Given the description of an element on the screen output the (x, y) to click on. 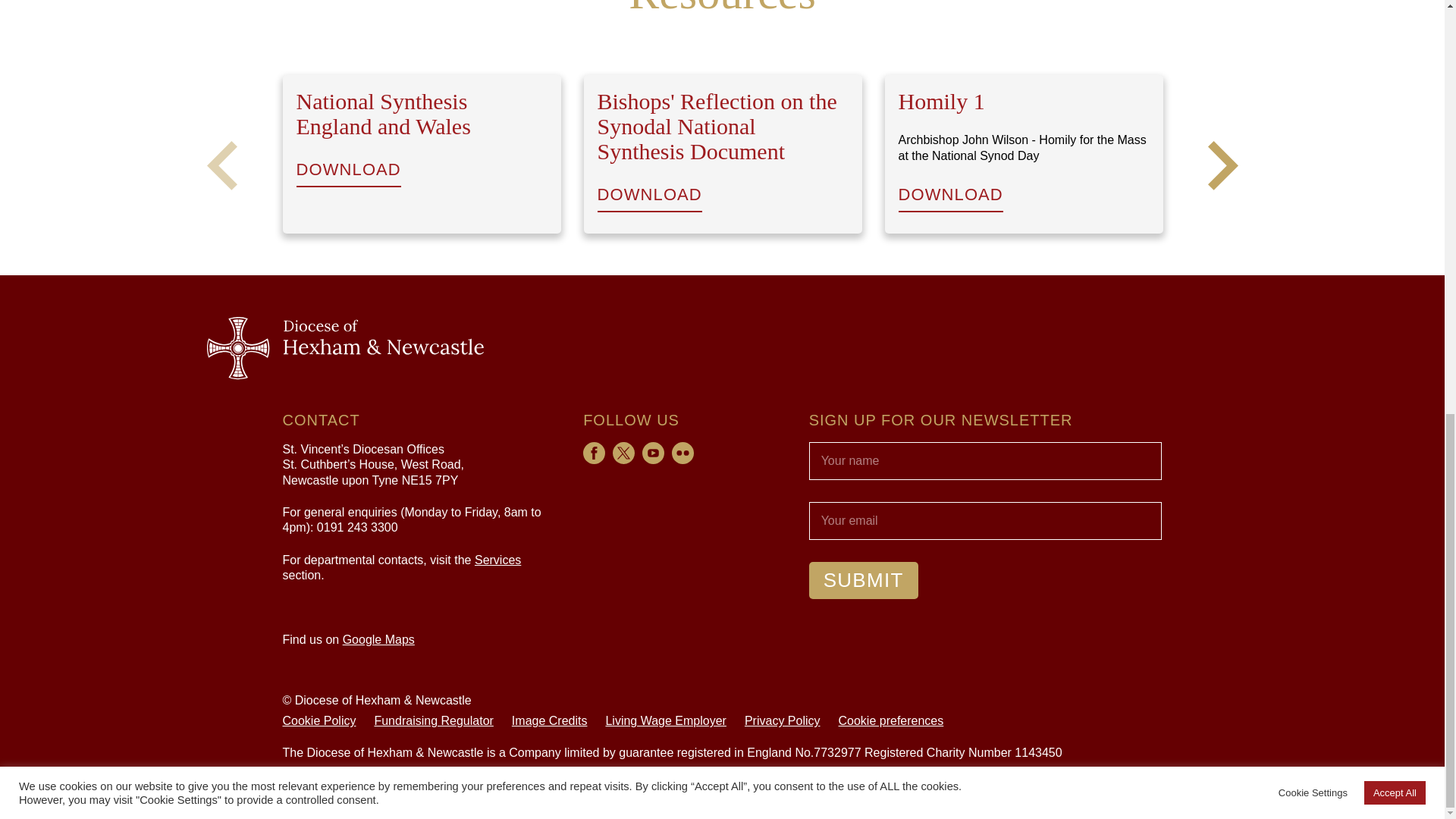
Submit (863, 579)
